Given the description of an element on the screen output the (x, y) to click on. 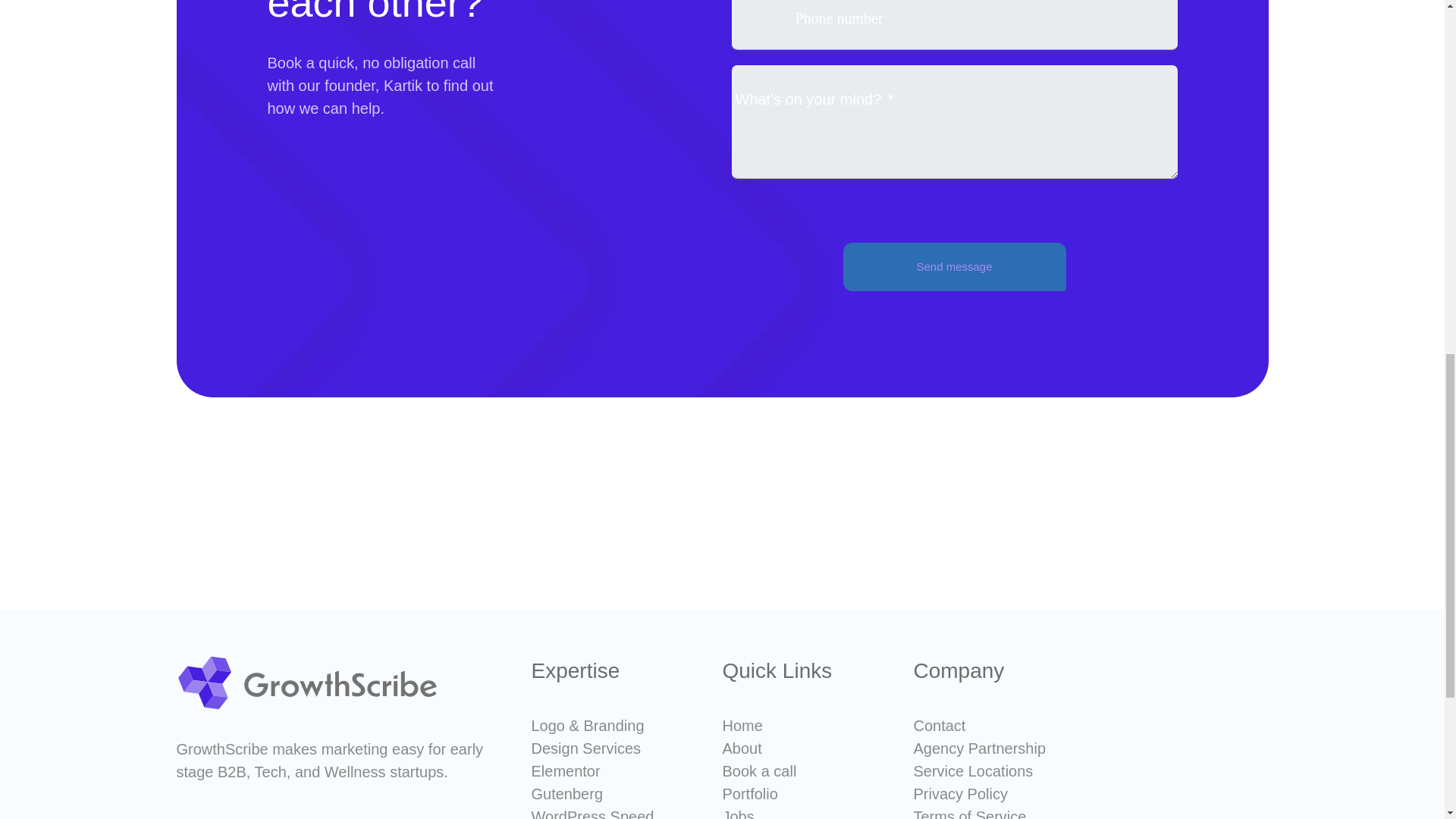
Send message (954, 266)
About (741, 748)
Home (741, 725)
Contact (938, 725)
Agency Partnership (978, 748)
Portfolio (749, 793)
Book a call (759, 770)
Jobs (738, 813)
Design Services (585, 748)
